Given the description of an element on the screen output the (x, y) to click on. 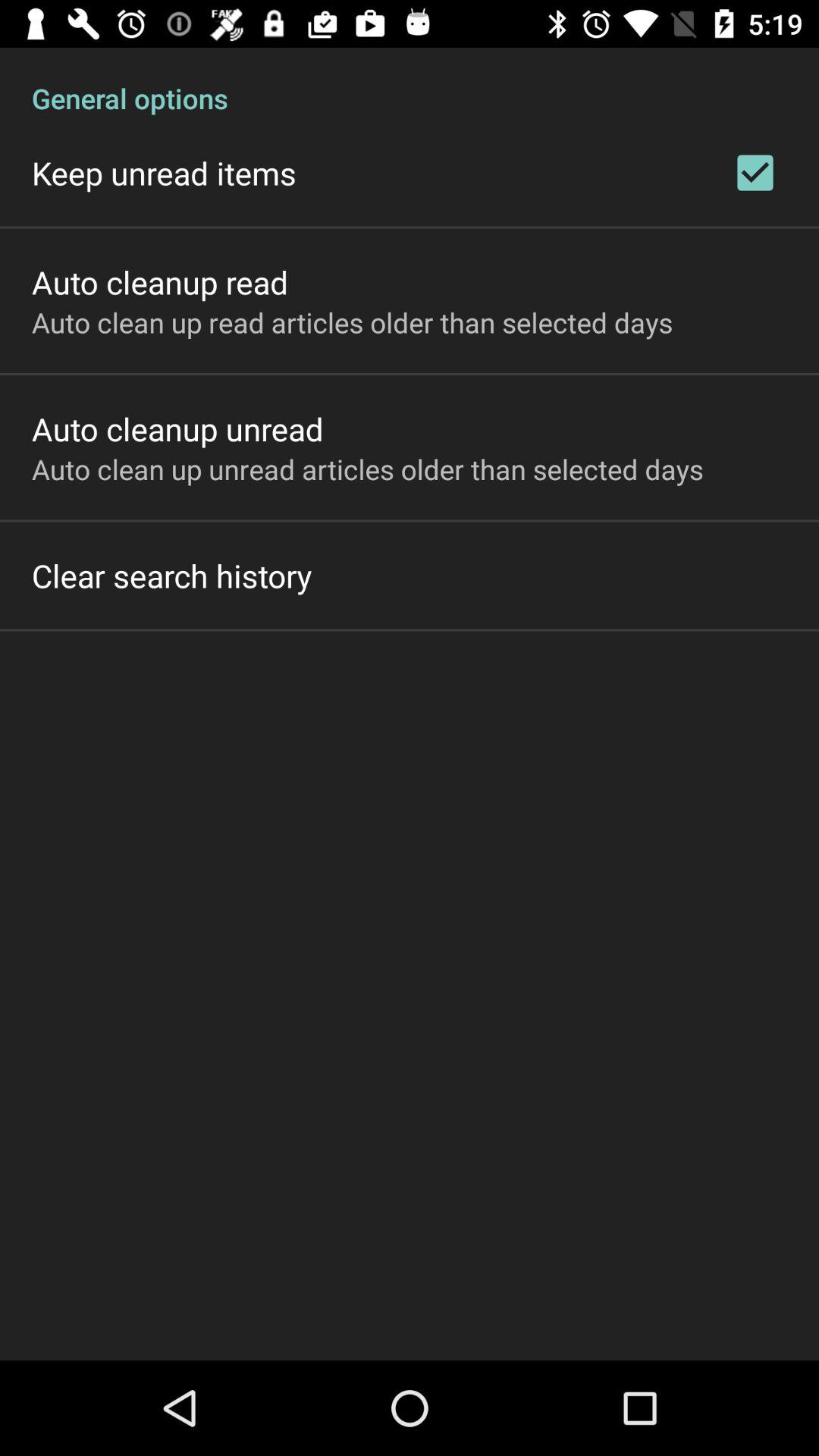
launch item below auto clean up item (171, 575)
